Given the description of an element on the screen output the (x, y) to click on. 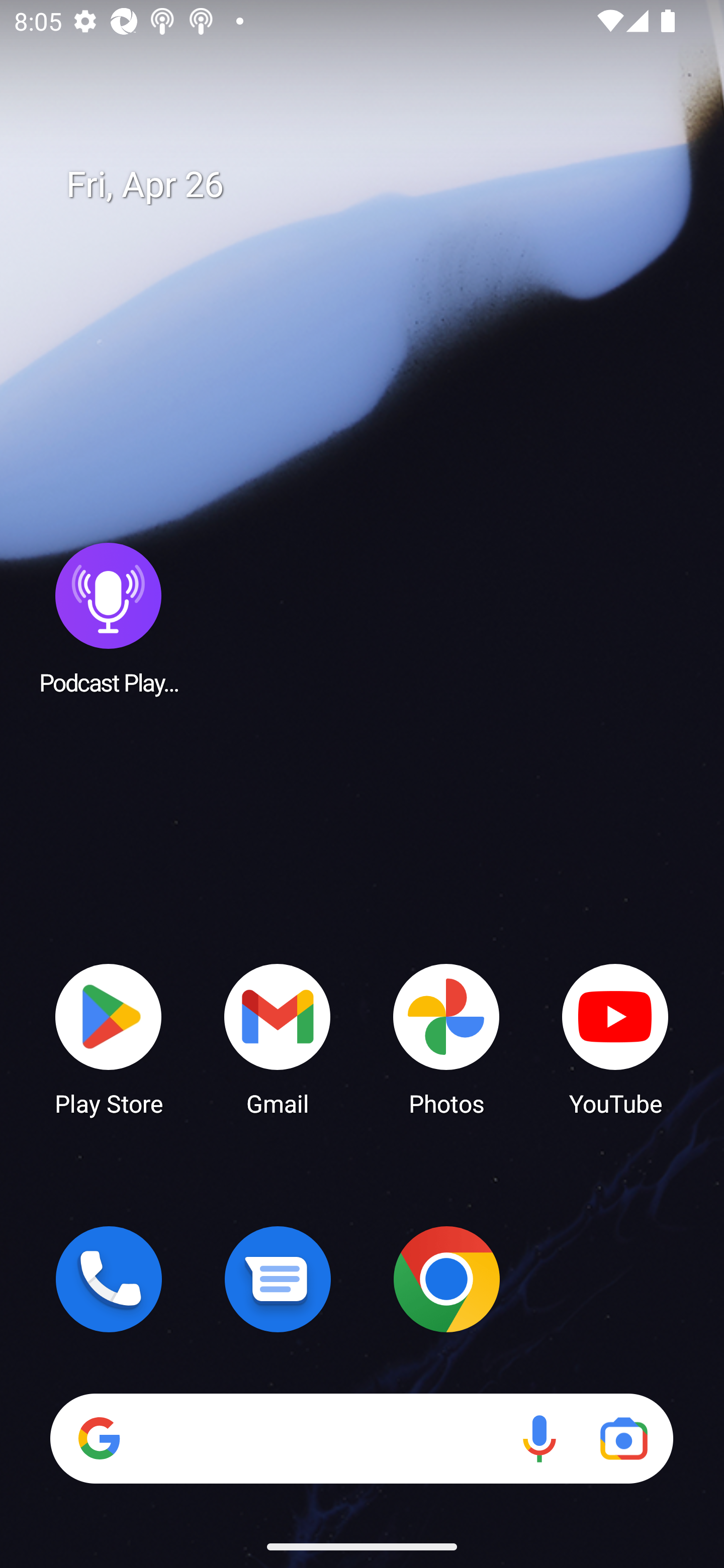
Fri, Apr 26 (375, 184)
Podcast Player (108, 617)
Play Store (108, 1038)
Gmail (277, 1038)
Photos (445, 1038)
YouTube (615, 1038)
Phone (108, 1279)
Messages (277, 1279)
Chrome (446, 1279)
Search Voice search Google Lens (361, 1438)
Voice search (539, 1438)
Google Lens (623, 1438)
